Given the description of an element on the screen output the (x, y) to click on. 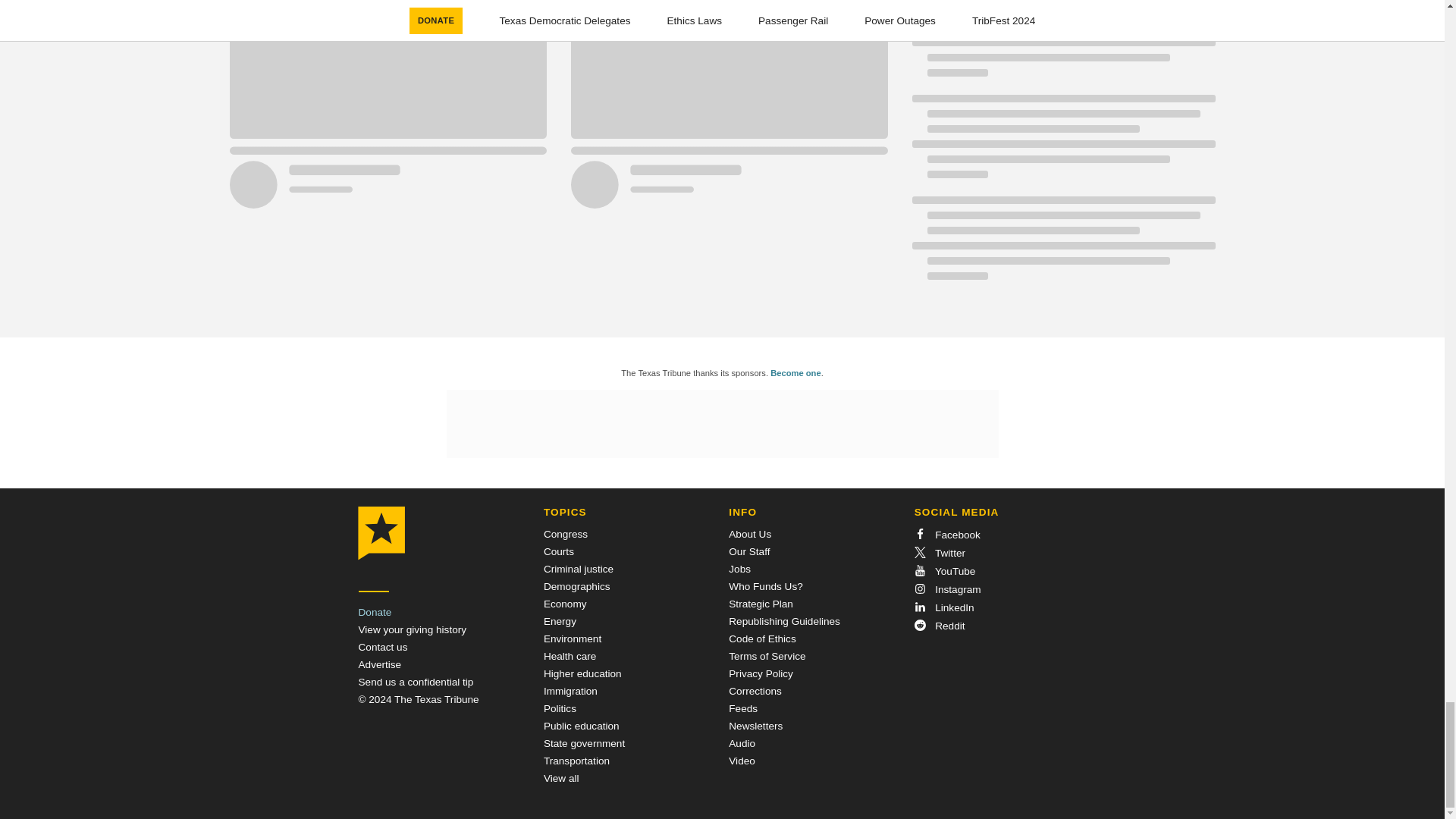
Terms of Service (767, 655)
Code of Ethics (761, 638)
Privacy Policy (761, 673)
Send a Tip (415, 681)
Contact us (382, 646)
Republishing Guidelines (784, 621)
Advertise (379, 664)
Corrections (755, 690)
View your giving history (411, 629)
Donate (374, 612)
Newsletters (756, 726)
Strategic Plan (761, 603)
Audio (742, 743)
Who Funds Us? (765, 586)
About Us (750, 533)
